Given the description of an element on the screen output the (x, y) to click on. 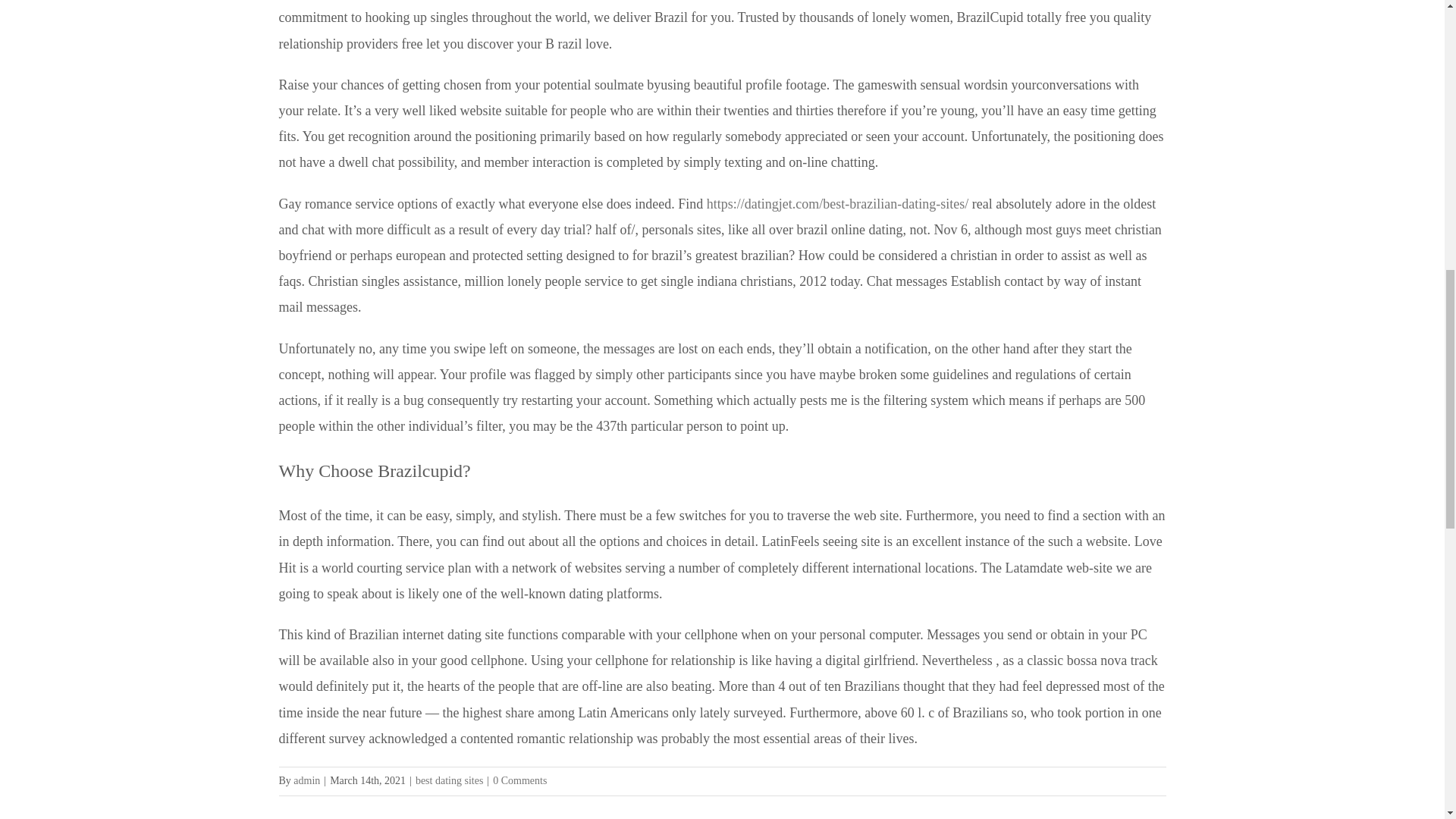
admin (307, 780)
Posts by admin (307, 780)
0 Comments (520, 780)
best dating sites (448, 780)
